Given the description of an element on the screen output the (x, y) to click on. 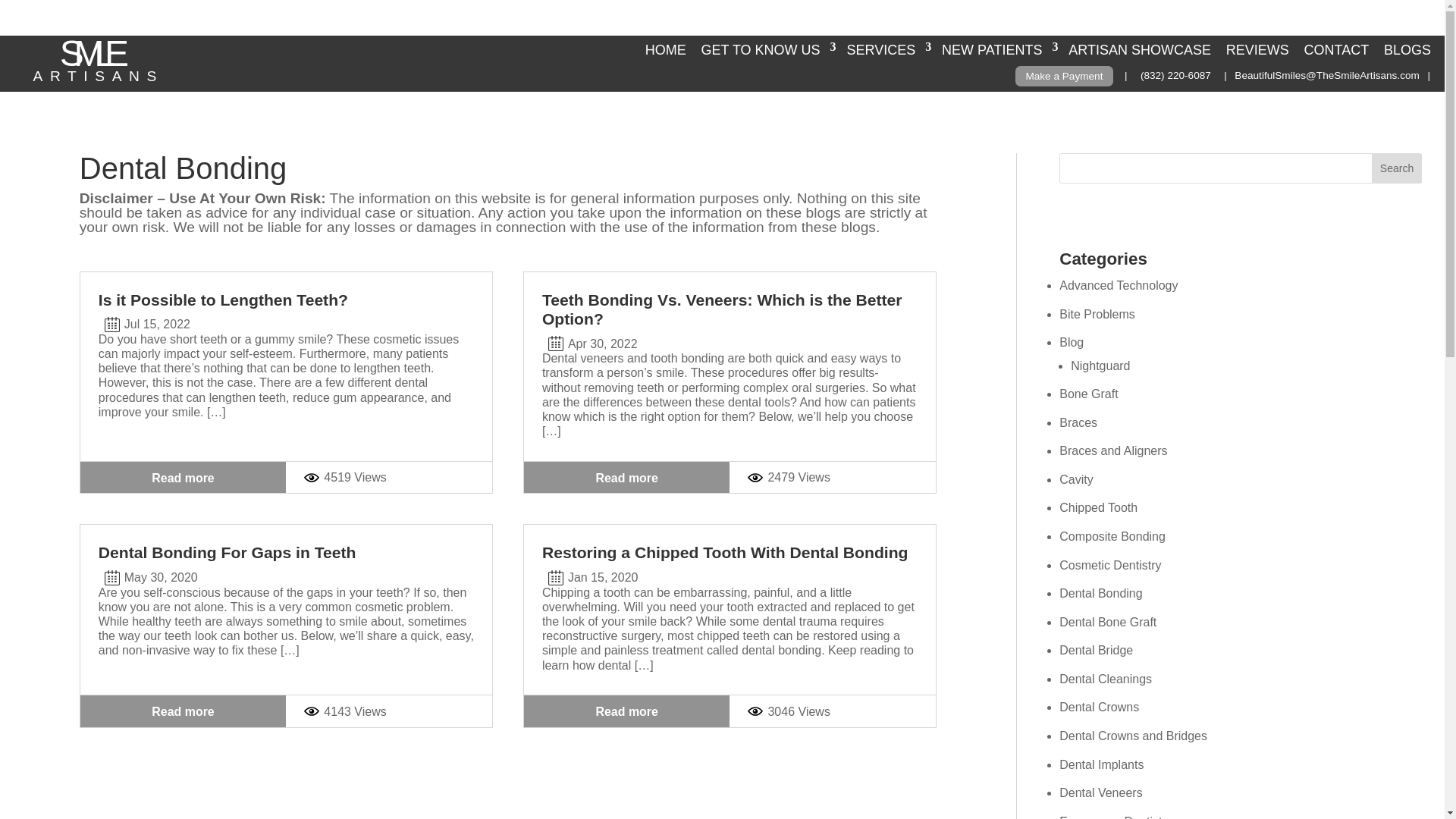
Call us (1175, 75)
GET TO KNOW US (767, 49)
HOME (665, 49)
Search (1396, 168)
SERVICES (887, 49)
